Given the description of an element on the screen output the (x, y) to click on. 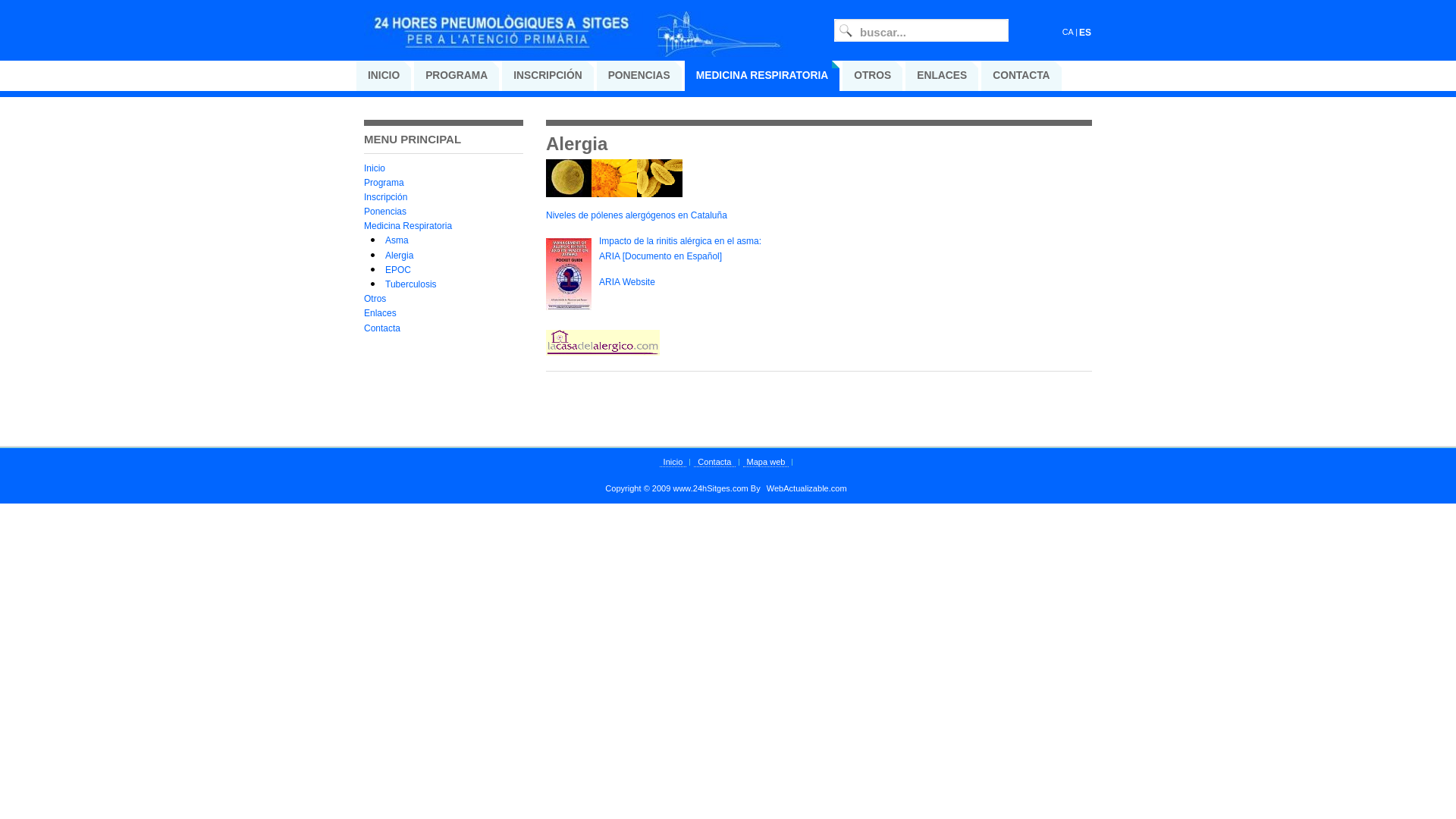
Medicina Respiratoria Element type: text (407, 225)
EPOC Element type: text (398, 269)
Ponencias Element type: text (385, 211)
Mapa web Element type: text (766, 462)
OTROS Element type: text (872, 75)
Inicio Element type: text (374, 167)
ARIA Website Element type: text (627, 281)
Tuberculosis Element type: text (410, 284)
MEDICINA RESPIRATORIA Element type: text (762, 75)
PROGRAMA Element type: text (456, 75)
CA | Element type: text (1069, 31)
Enlaces Element type: text (380, 312)
Programa Element type: text (384, 182)
INICIO Element type: text (383, 75)
24hsitges.com Element type: text (576, 41)
WebActualizable.com Element type: text (806, 487)
Alergia Element type: text (399, 255)
www.lacasadelalergico.com Element type: hover (602, 352)
ES Element type: text (1085, 32)
Contacta Element type: text (382, 328)
Otros Element type: text (374, 298)
Asma Element type: text (396, 240)
ENLACES Element type: text (941, 75)
PONENCIAS Element type: text (638, 75)
Inicio Element type: text (673, 462)
Contacta Element type: text (713, 462)
CONTACTA Element type: text (1020, 75)
